Given the description of an element on the screen output the (x, y) to click on. 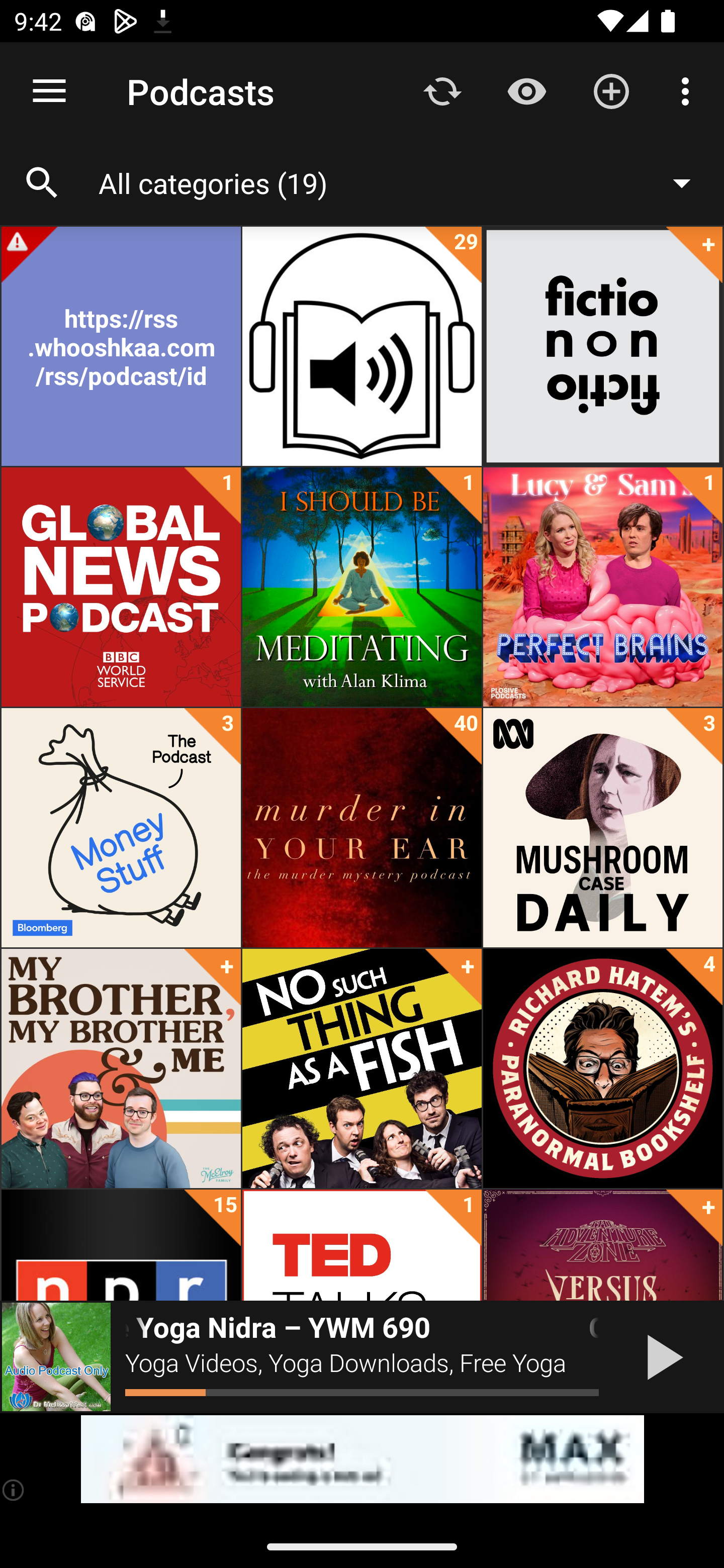
Open navigation sidebar (49, 91)
Update (442, 90)
Show / Hide played content (526, 90)
Add new Podcast (611, 90)
More options (688, 90)
Search (42, 183)
All categories (19) (404, 182)
https://rss.whooshkaa.com/rss/podcast/id/5884 (121, 346)
Audiobooks 29 (361, 346)
fiction/non/fiction + (602, 346)
Global News Podcast 1 (121, 587)
Lucy & Sam's Perfect Brains 1 (602, 587)
Money Stuff: The Podcast 3 (121, 827)
Murder In Your Ear-The Murder Mystery Podcast 40 (361, 827)
Mushroom Case Daily 3 (602, 827)
My Brother, My Brother And Me + (121, 1068)
No Such Thing As A Fish + (361, 1068)
Richard Hatem's Paranormal Bookshelf 4 (602, 1068)
Play / Pause (660, 1356)
app-monetization (362, 1459)
(i) (14, 1489)
